Given the description of an element on the screen output the (x, y) to click on. 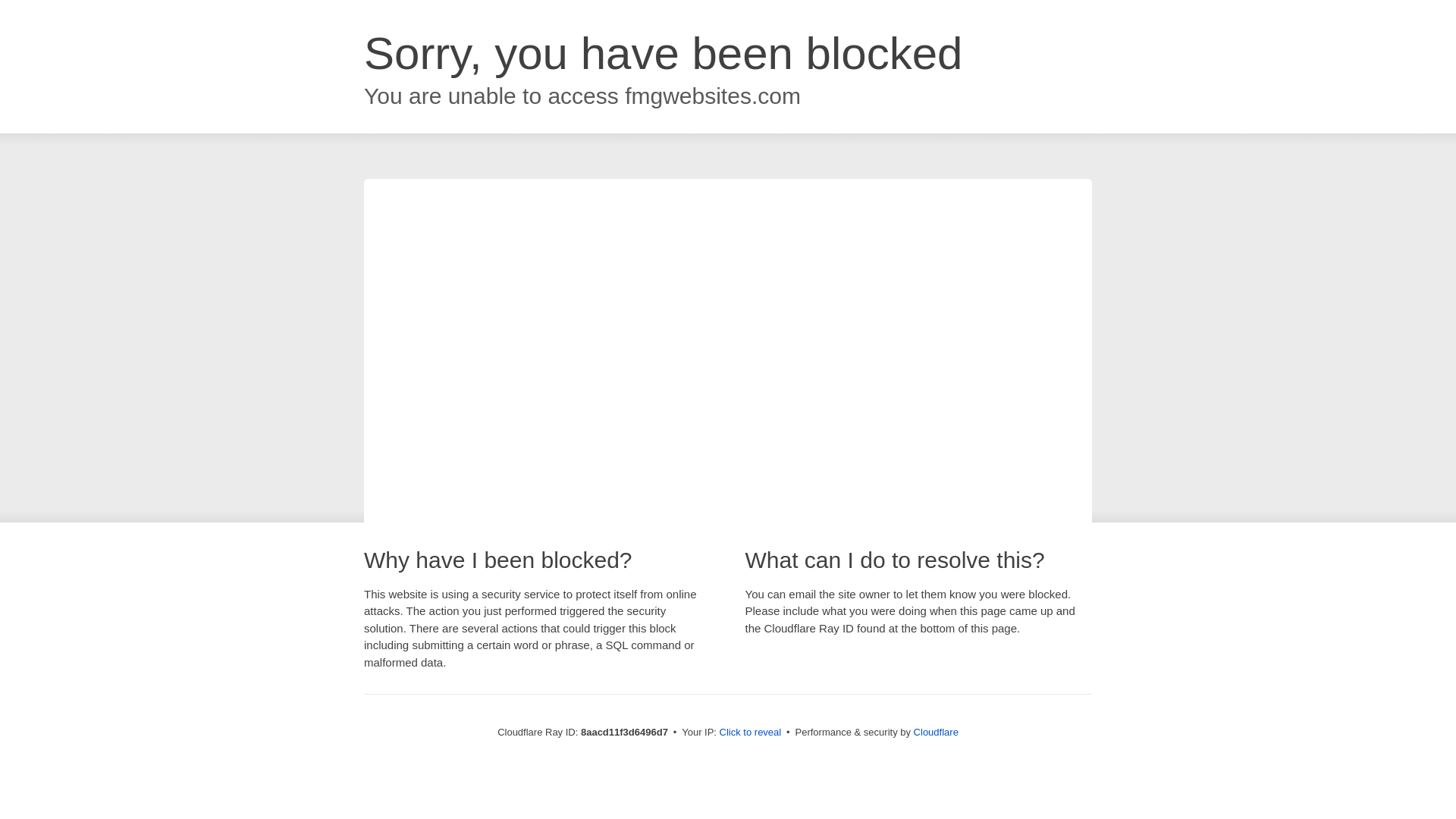
Cloudflare (936, 731)
Click to reveal (750, 732)
